Given the description of an element on the screen output the (x, y) to click on. 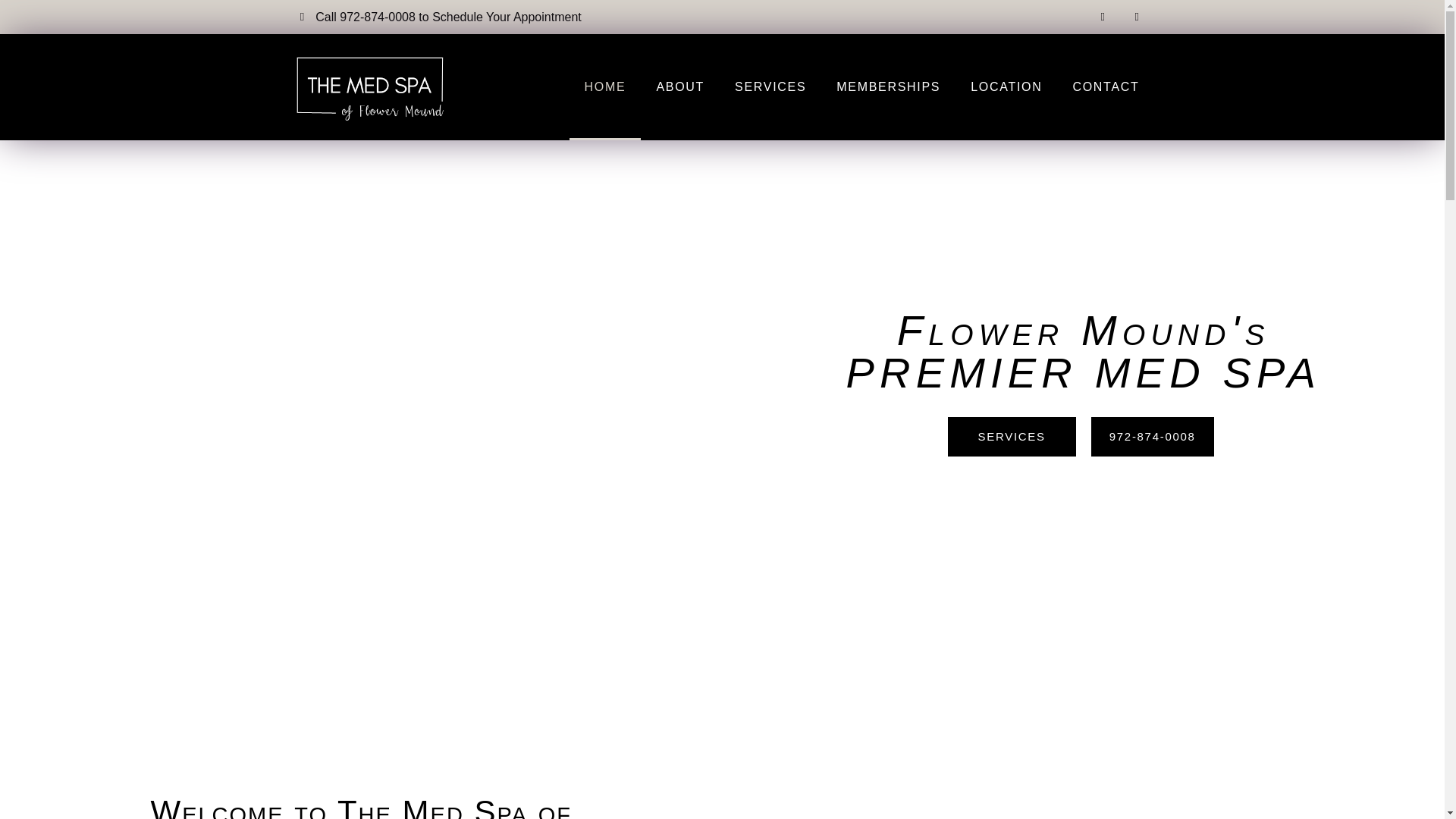
LOCATION (1006, 87)
SERVICES (770, 87)
SERVICES (1011, 436)
CONTACT (1105, 87)
MEMBERSHIPS (888, 87)
